Given the description of an element on the screen output the (x, y) to click on. 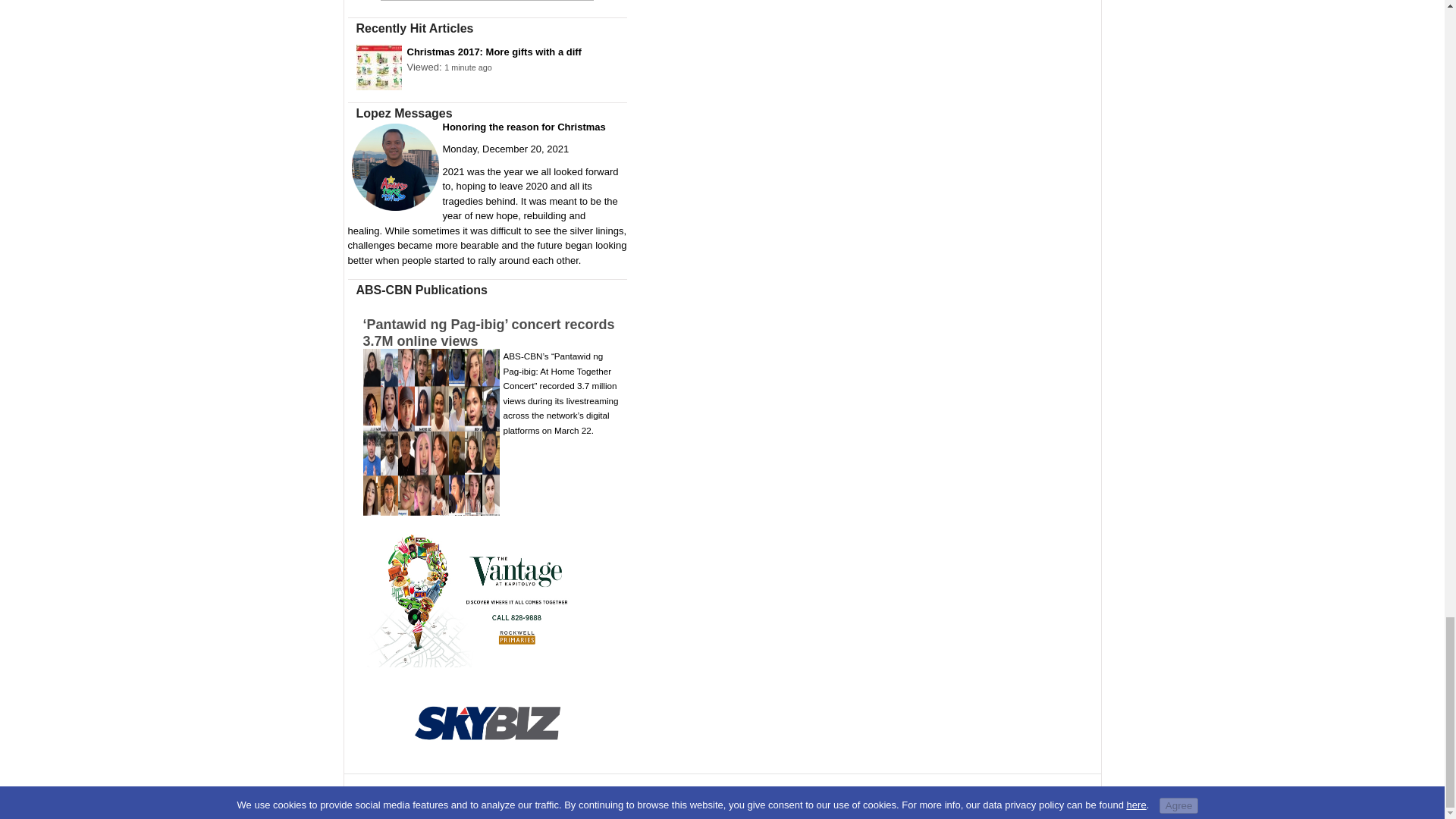
Underestimated (486, 2)
